Given the description of an element on the screen output the (x, y) to click on. 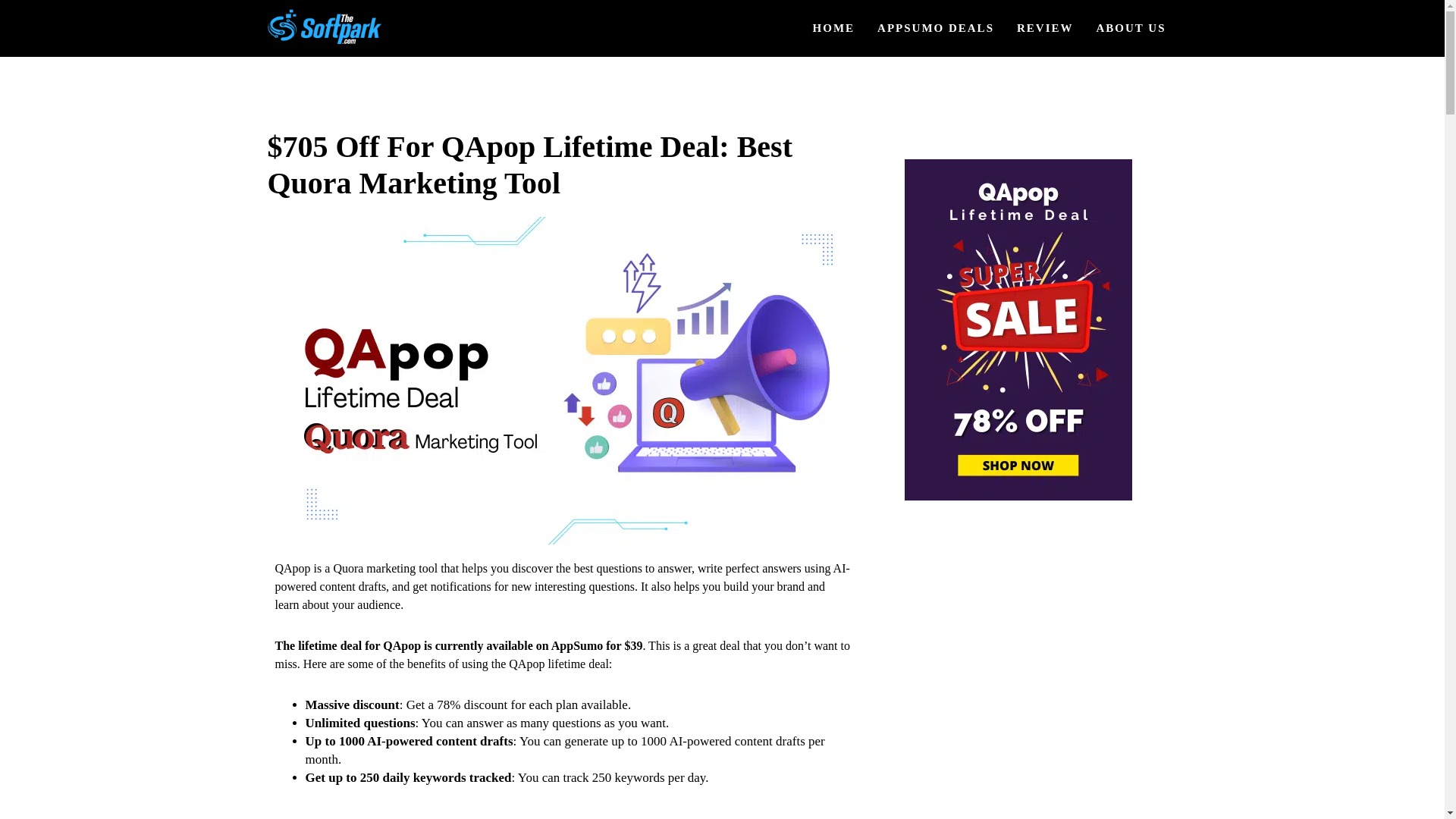
REVIEW (1045, 28)
Thesoftpark (314, 56)
ABOUT US (1130, 28)
HOME (834, 28)
APPSUMO DEALS (936, 28)
